Given the description of an element on the screen output the (x, y) to click on. 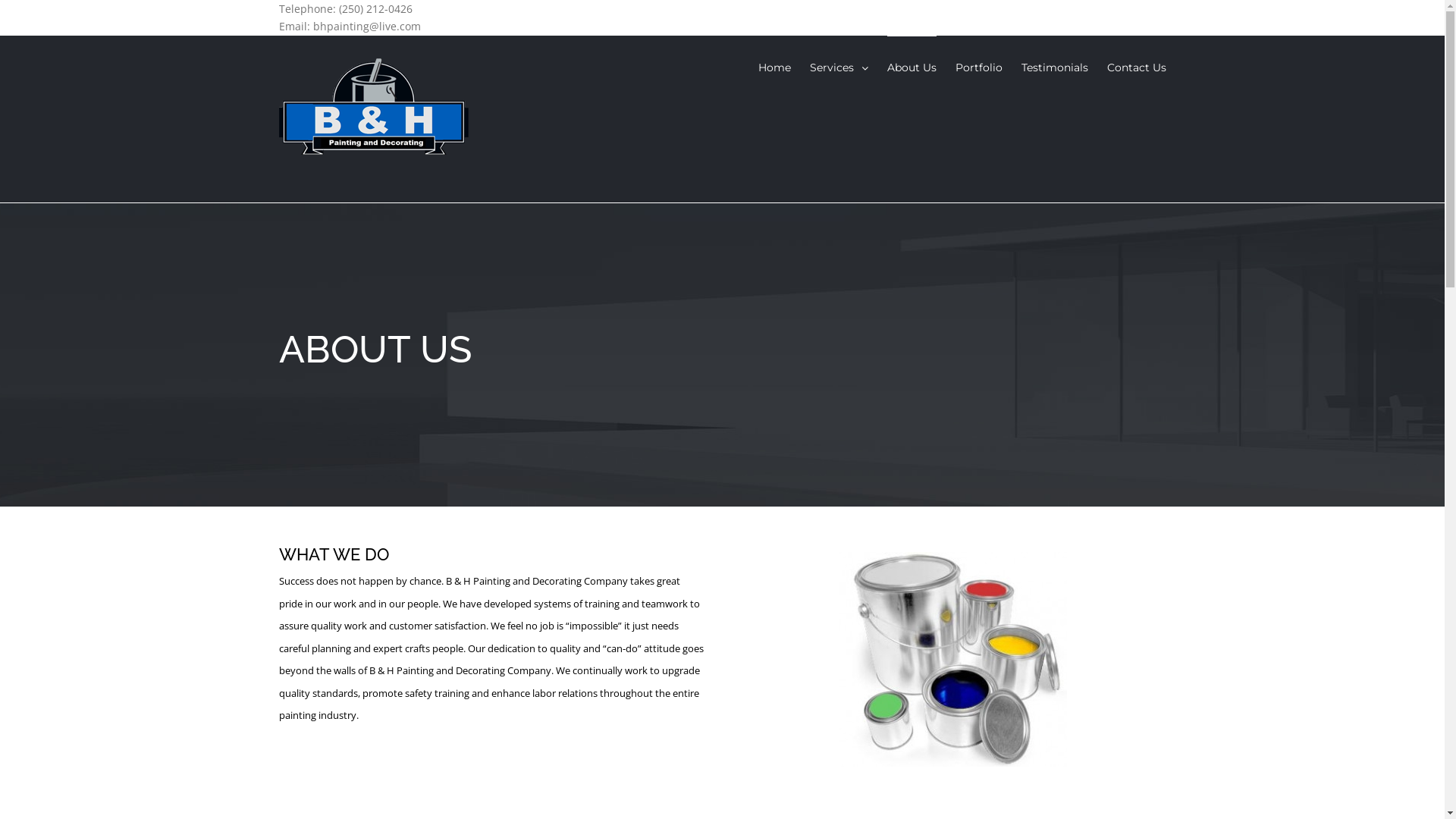
Contact Us Element type: text (1136, 67)
Home Element type: text (774, 67)
About Us Element type: text (911, 67)
Portfolio Element type: text (978, 67)
(250) 212-0426 Element type: text (374, 8)
Testimonials Element type: text (1053, 67)
bhpainting@live.com Element type: text (366, 25)
Services Element type: text (838, 67)
